Given the description of an element on the screen output the (x, y) to click on. 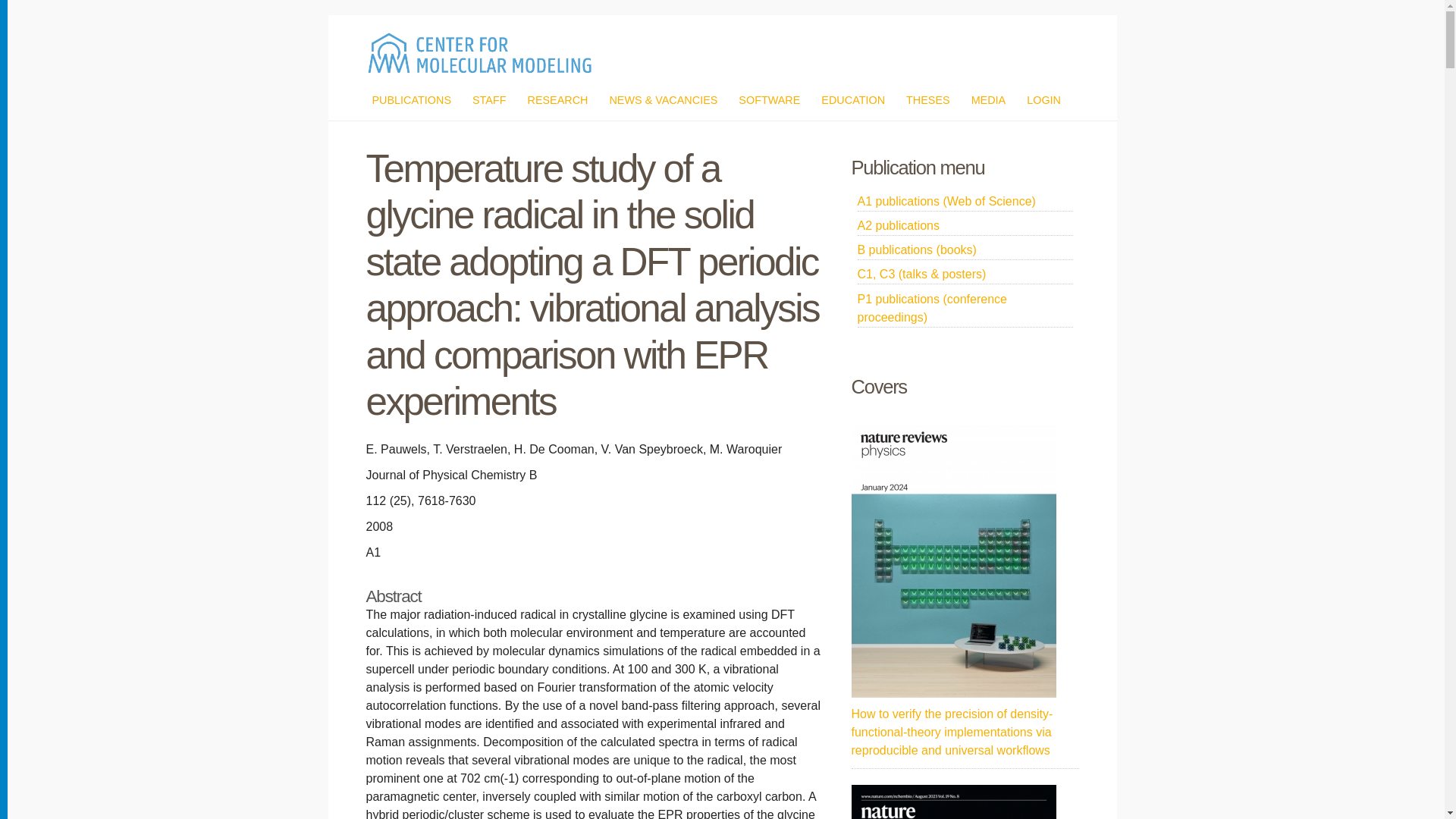
EDUCATION (853, 100)
THESES (927, 100)
RESEARCH (557, 100)
PUBLICATIONS (411, 100)
STAFF (488, 100)
A2 publications (964, 226)
Skip to main content (685, 16)
LOGIN (1043, 100)
SOFTWARE (768, 100)
MEDIA (988, 100)
